Given the description of an element on the screen output the (x, y) to click on. 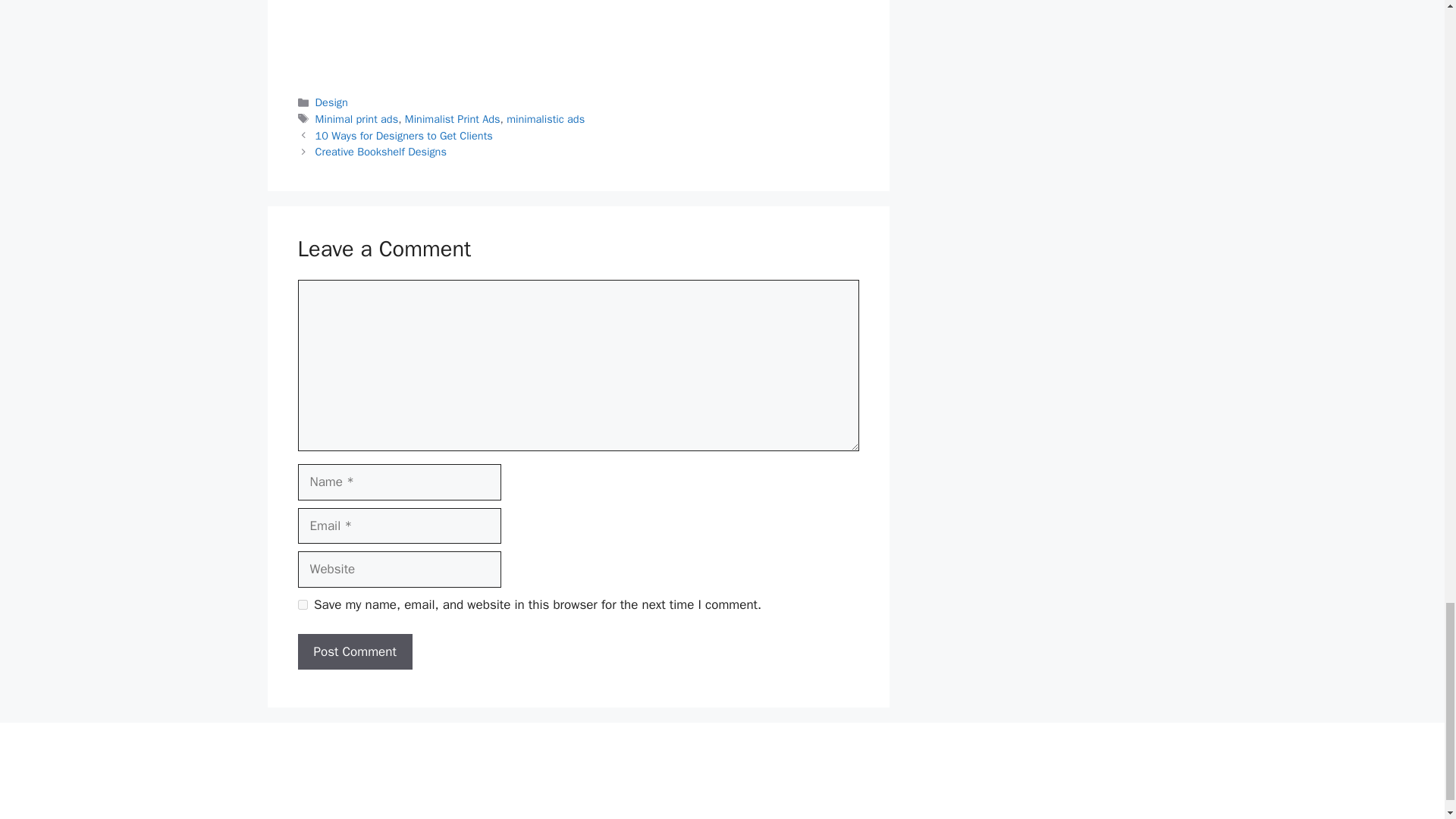
Minimal print ads (356, 119)
Minimalist Print Ads (452, 119)
Post Comment (354, 651)
minimalistic ads (545, 119)
Post Comment (354, 651)
Design (331, 101)
yes (302, 604)
10 Ways for Designers to Get Clients (404, 135)
Creative Bookshelf Designs (380, 151)
